Given the description of an element on the screen output the (x, y) to click on. 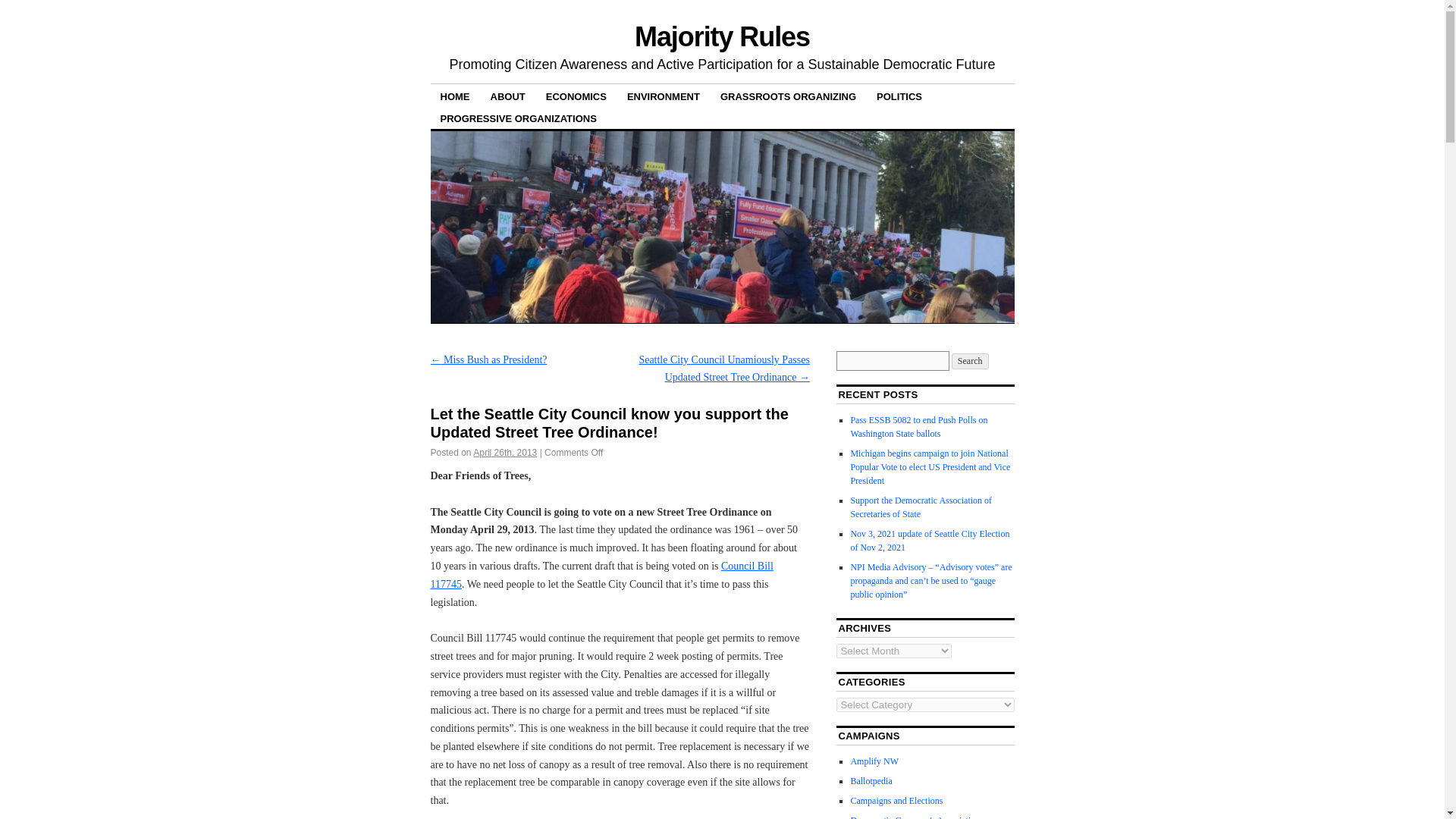
HOME (455, 96)
ECONOMICS (575, 96)
POLITICS (898, 96)
ABOUT (507, 96)
Majority Rules (721, 36)
PROGRESSIVE ORGANIZATIONS (518, 117)
Search (970, 360)
Ballotpedia (870, 780)
ENVIRONMENT (663, 96)
Search (970, 360)
